Given the description of an element on the screen output the (x, y) to click on. 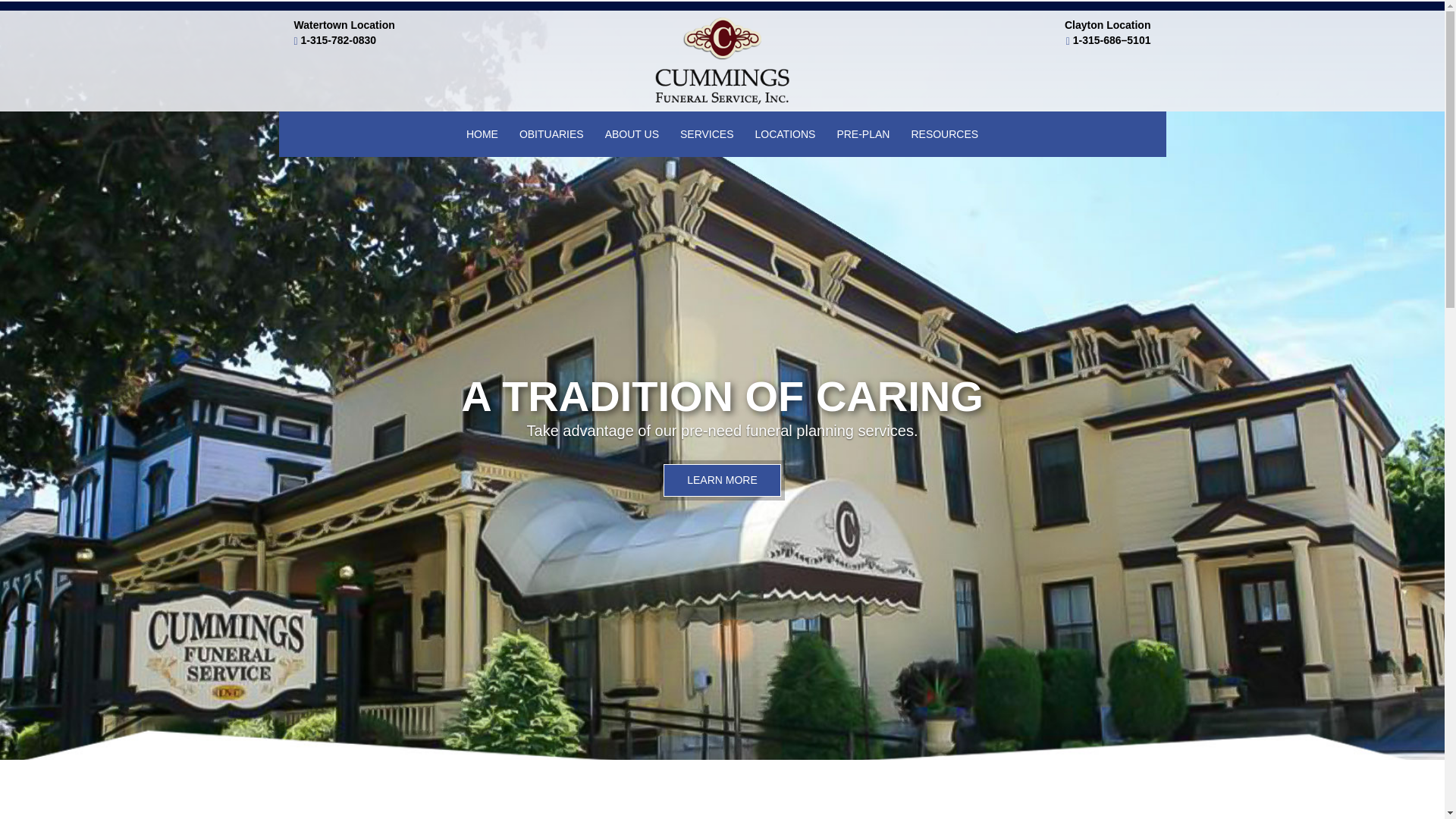
Watertown Location (344, 24)
1-315-782-0830 (339, 39)
Logo (722, 60)
Clayton Location (1107, 24)
